Given the description of an element on the screen output the (x, y) to click on. 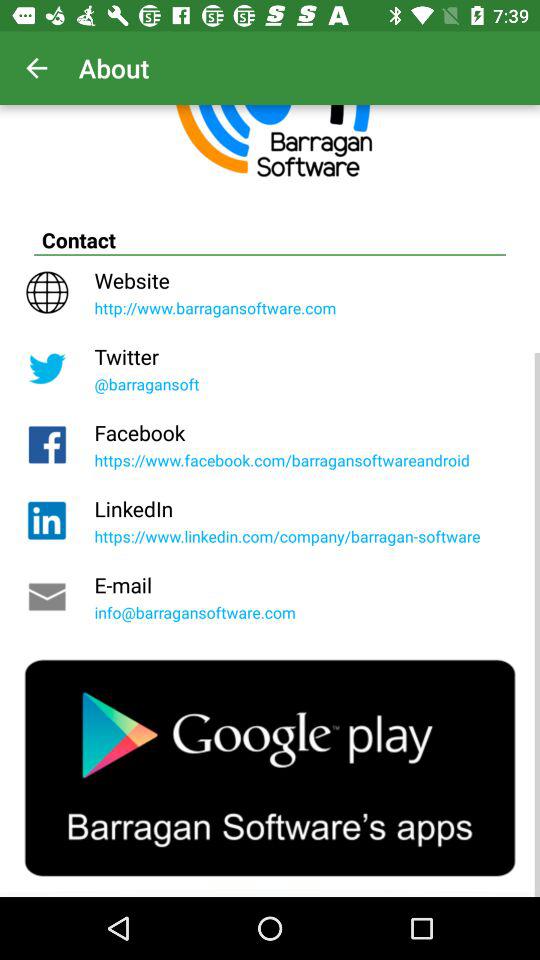
press icon above the contact (36, 68)
